Given the description of an element on the screen output the (x, y) to click on. 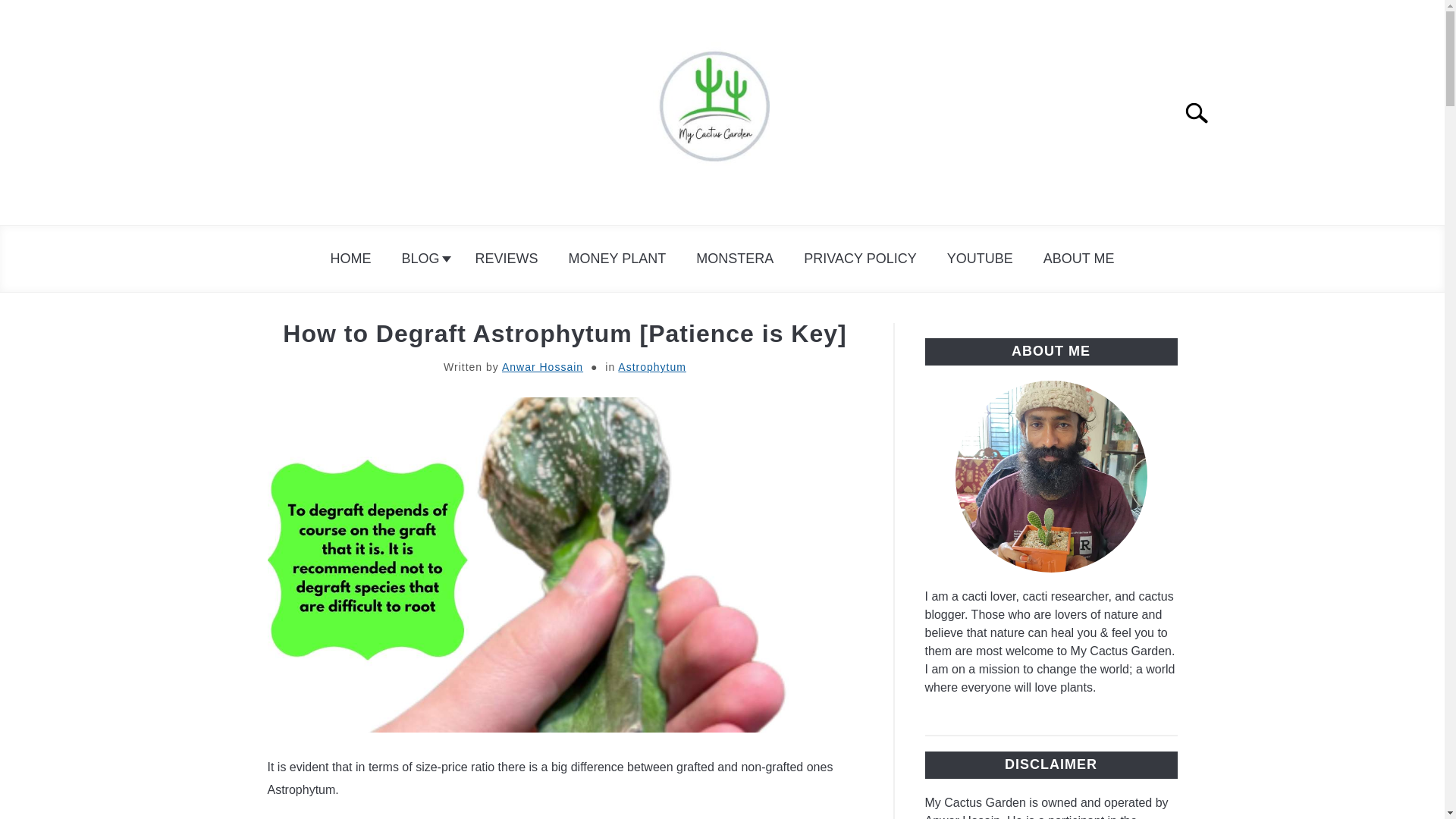
HOME (351, 258)
BLOG (423, 258)
Search (1203, 112)
